Given the description of an element on the screen output the (x, y) to click on. 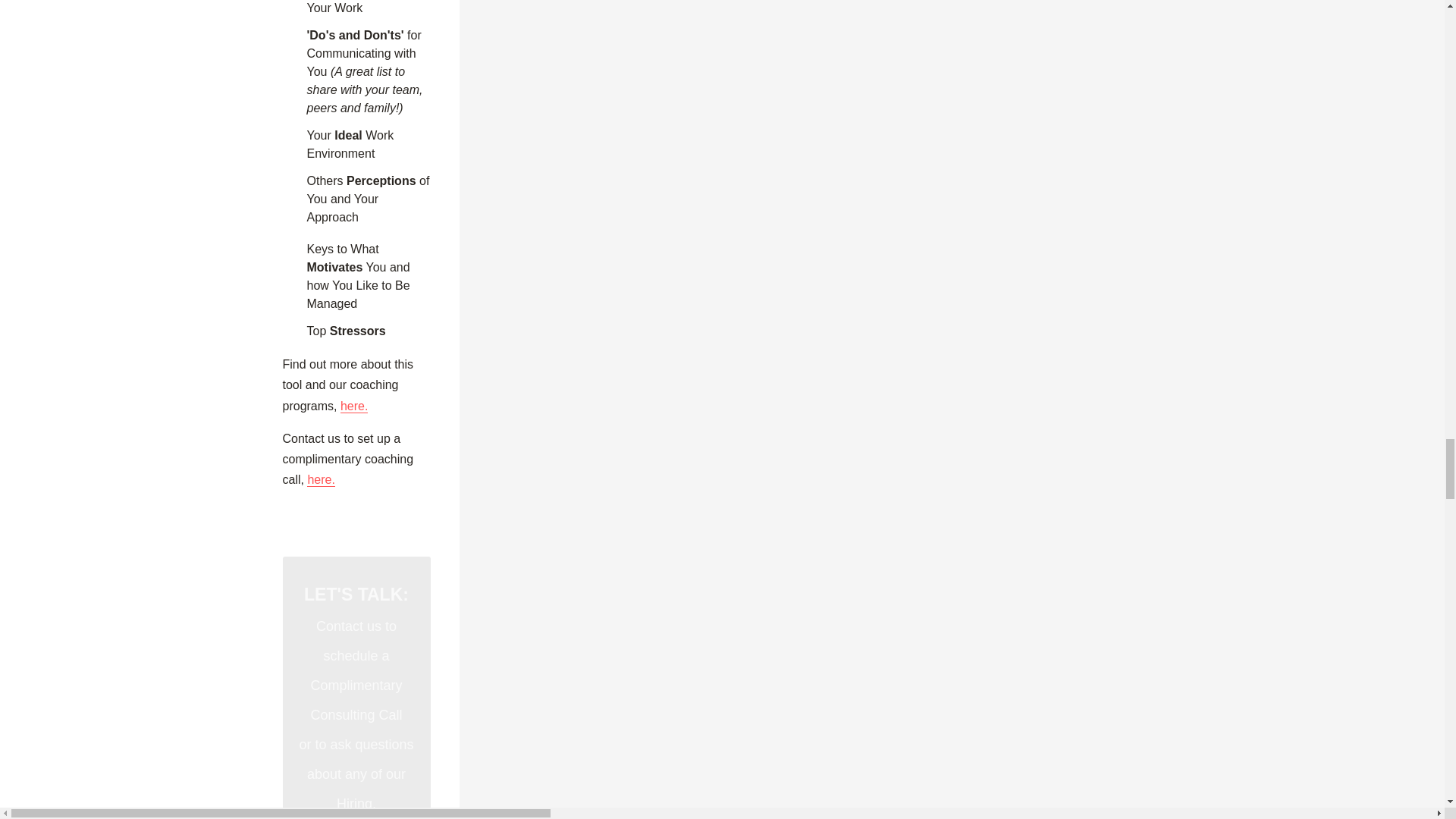
here. (354, 406)
here. (320, 479)
